Given the description of an element on the screen output the (x, y) to click on. 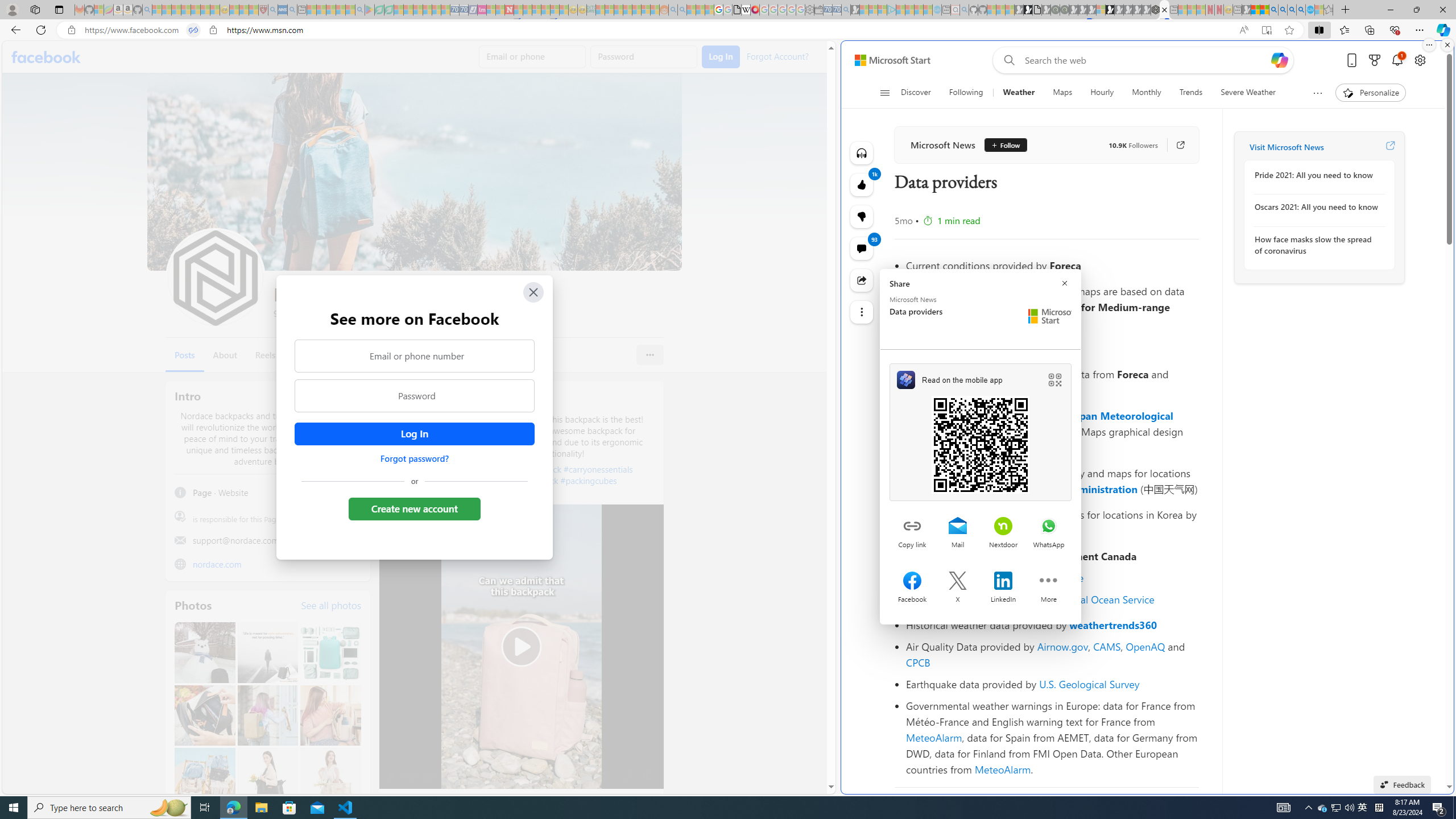
Facebook (46, 56)
Facebook (46, 56)
Oscars 2021: All you need to know (1316, 206)
Microsoft News (942, 144)
Severe Weather (1247, 92)
